Given the description of an element on the screen output the (x, y) to click on. 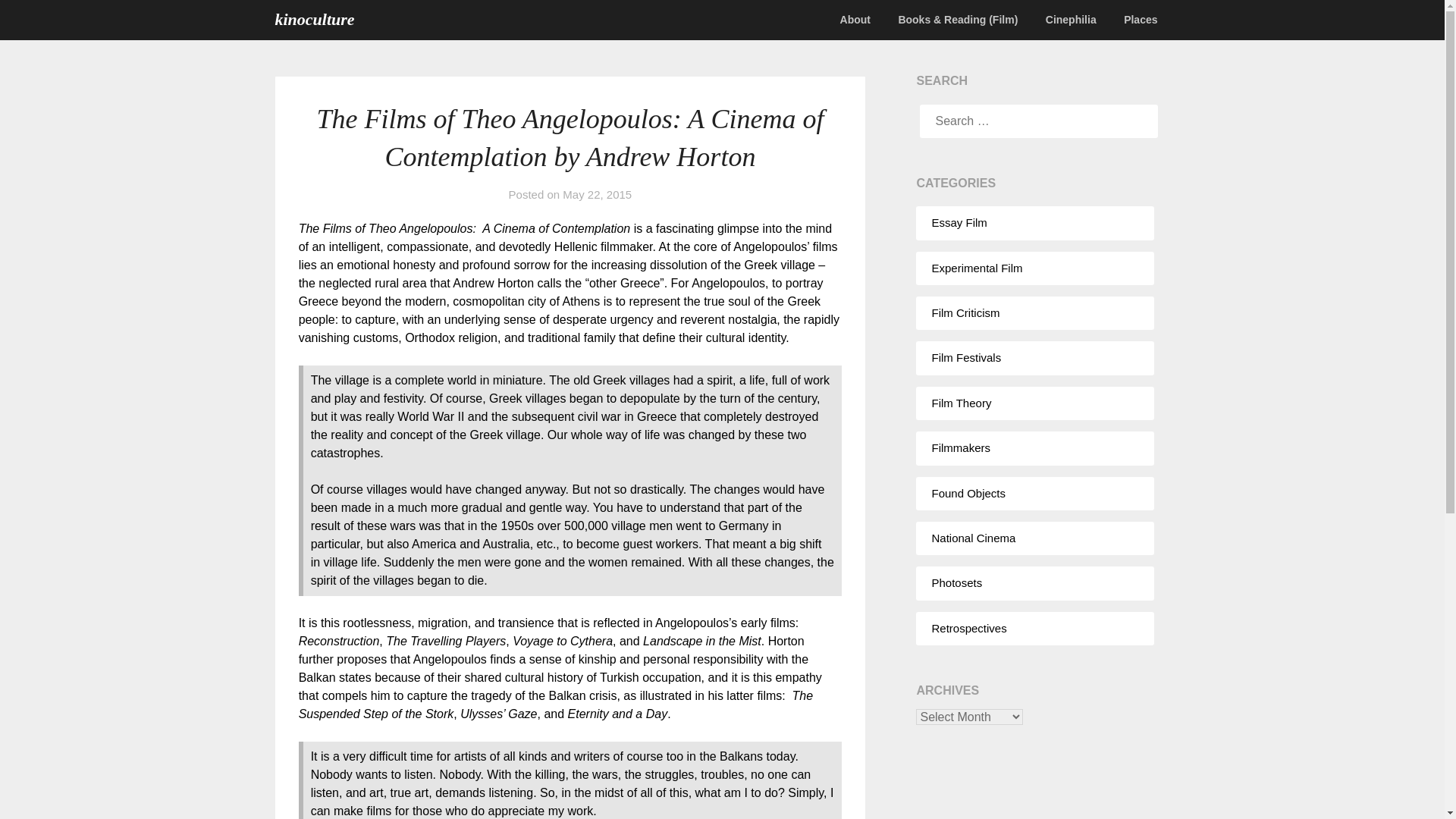
Experimental Film (976, 267)
May 22, 2015 (596, 194)
kinoculture (314, 19)
Film Theory (961, 402)
About (855, 20)
Cinephilia (1070, 20)
National Cinema (972, 537)
Retrospectives (968, 627)
Film Festivals (966, 357)
Film Criticism (964, 312)
Essay Film (959, 222)
Photosets (956, 582)
Filmmakers (960, 447)
Places (1140, 20)
Found Objects (968, 492)
